Given the description of an element on the screen output the (x, y) to click on. 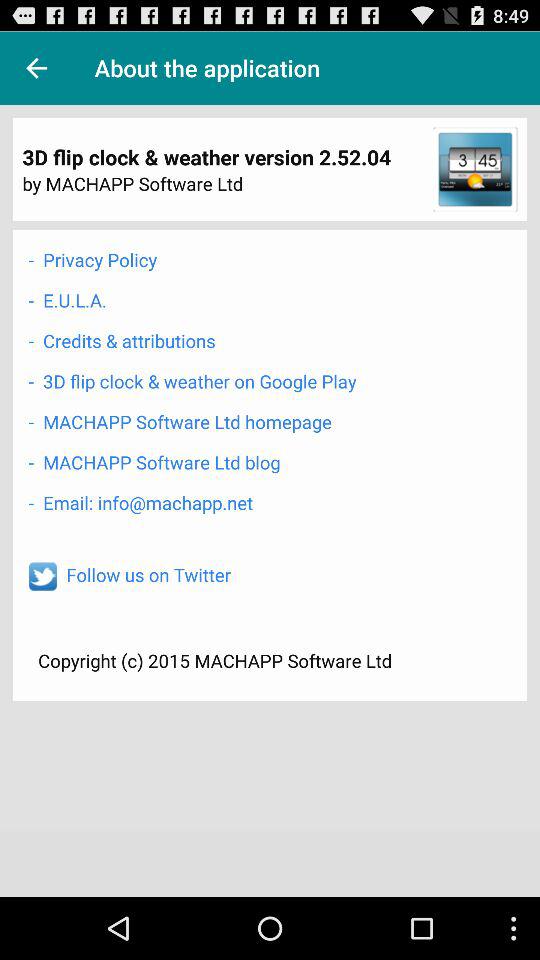
scroll until the e u l (67, 300)
